Given the description of an element on the screen output the (x, y) to click on. 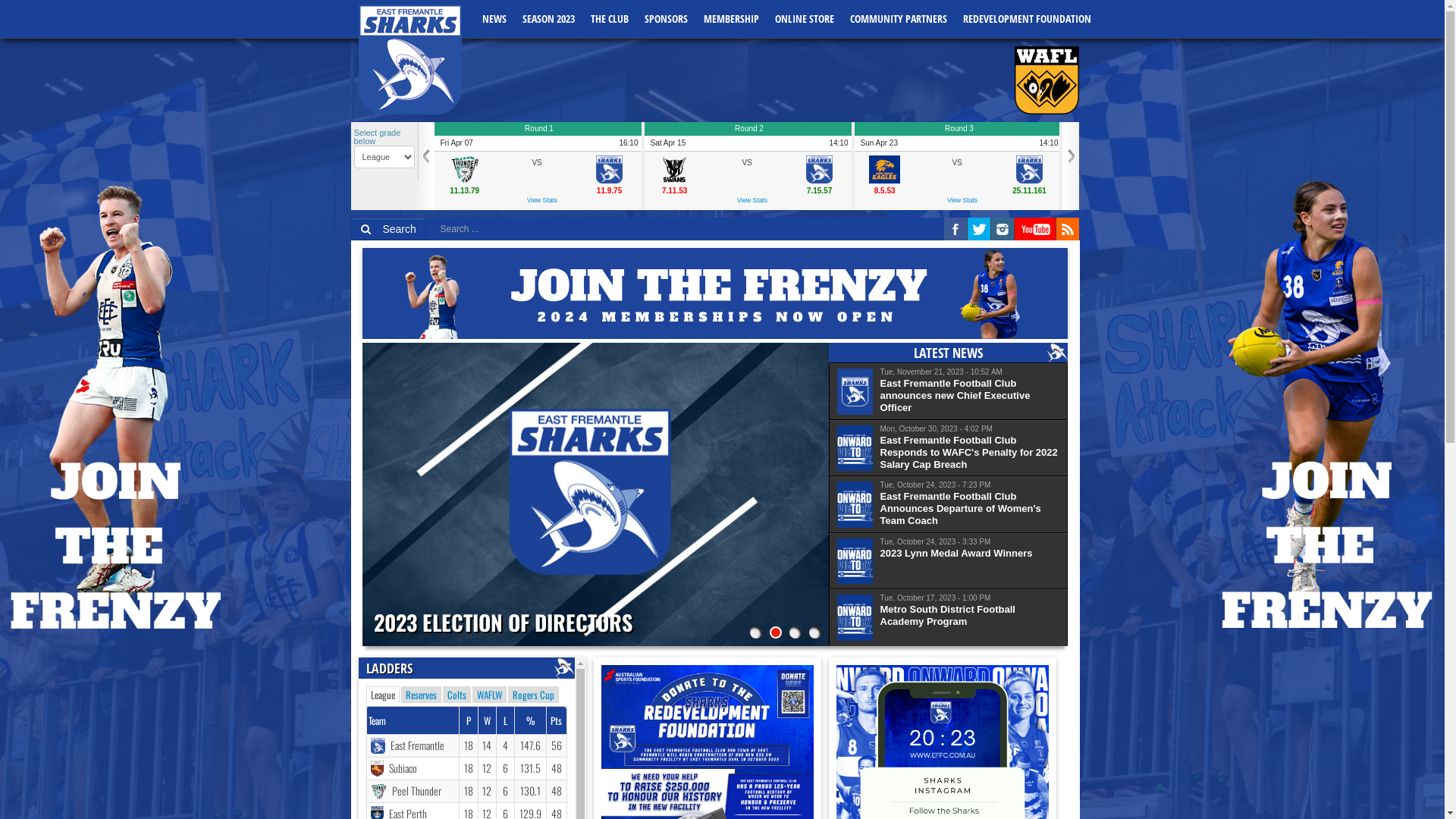
Round 3
Sun Apr 23
14:10 Element type: text (956, 136)
REDEVELOPMENT FOUNDATION Element type: text (1027, 18)
COMMUNITY PARTNERS Element type: text (897, 18)
3 Element type: text (794, 614)
SPONSORS Element type: text (666, 18)
League Element type: text (381, 694)
2023 Lynn Medal Award Winners Element type: text (955, 553)
WHAT TYPE OF SHARK ARE YOU? Element type: text (511, 604)
Colts Element type: text (456, 694)
SEASON 2023 Element type: text (548, 18)
2 Element type: text (774, 614)
Rogers Cup Element type: text (533, 694)
Reserves Element type: text (420, 694)
Round 4
Sat Apr 29 Element type: text (1167, 136)
Round 2
Sat Apr 15
14:10 Element type: text (747, 136)
Round 1
Fri Apr 07
16:10 Element type: text (536, 136)
NEWS Element type: text (494, 18)
THE CLUB Element type: text (609, 18)
Search Element type: text (387, 228)
WAFLW Element type: text (488, 694)
ONLINE STORE Element type: text (804, 18)
1 Element type: text (755, 614)
Metro South District Football Academy Program Element type: text (968, 615)
4 Element type: text (814, 614)
MEMBERSHIP Element type: text (731, 18)
